Given the description of an element on the screen output the (x, y) to click on. 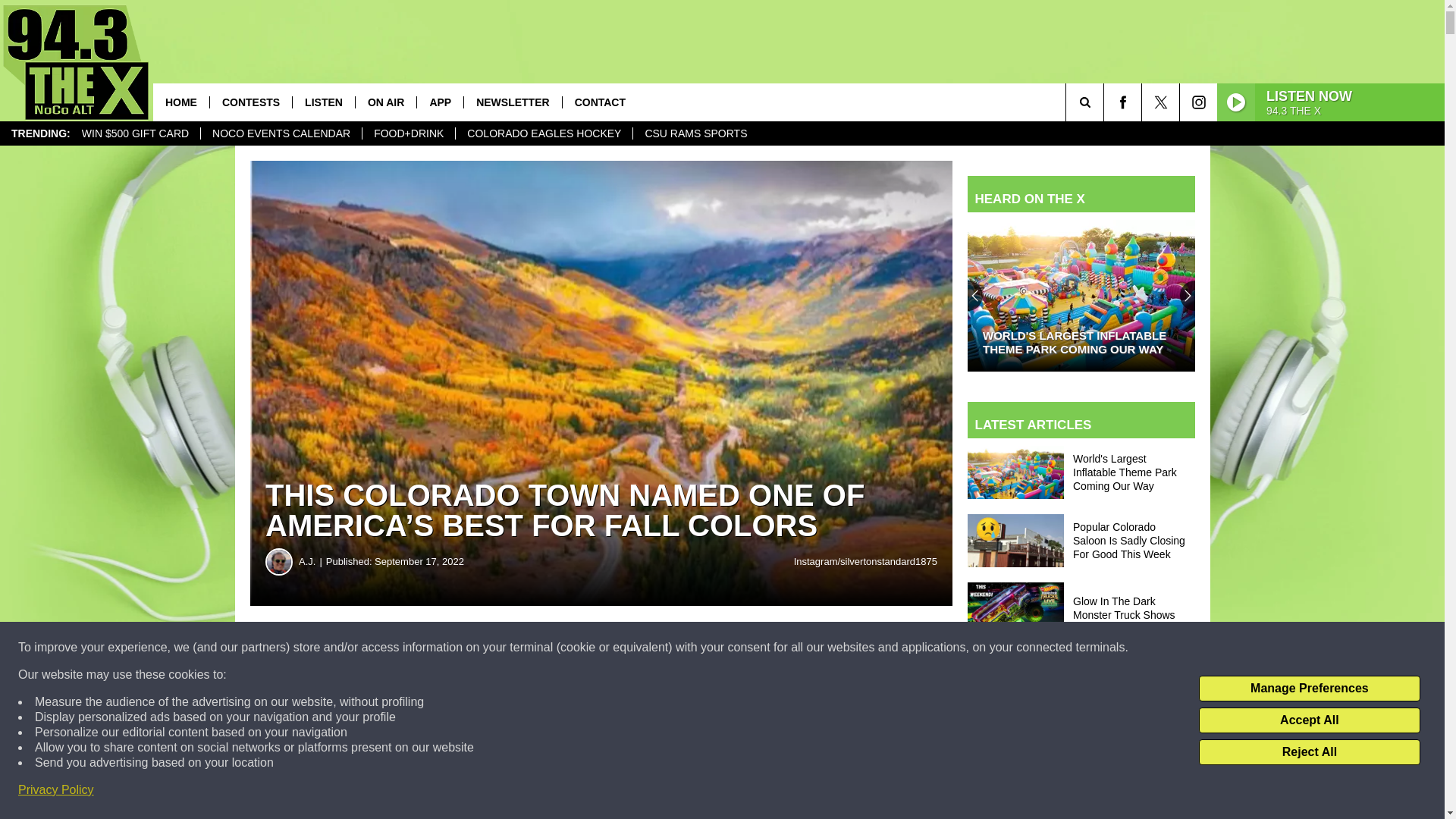
CONTACT (599, 102)
CONTESTS (250, 102)
Share on Facebook (460, 647)
ON AIR (385, 102)
NEWSLETTER (511, 102)
Manage Preferences (1309, 688)
APP (439, 102)
Reject All (1309, 751)
SEARCH (1106, 102)
LISTEN (323, 102)
HOME (180, 102)
Privacy Policy (55, 789)
NOCO EVENTS CALENDAR (280, 133)
CSU RAMS SPORTS (694, 133)
Accept All (1309, 720)
